Given the description of an element on the screen output the (x, y) to click on. 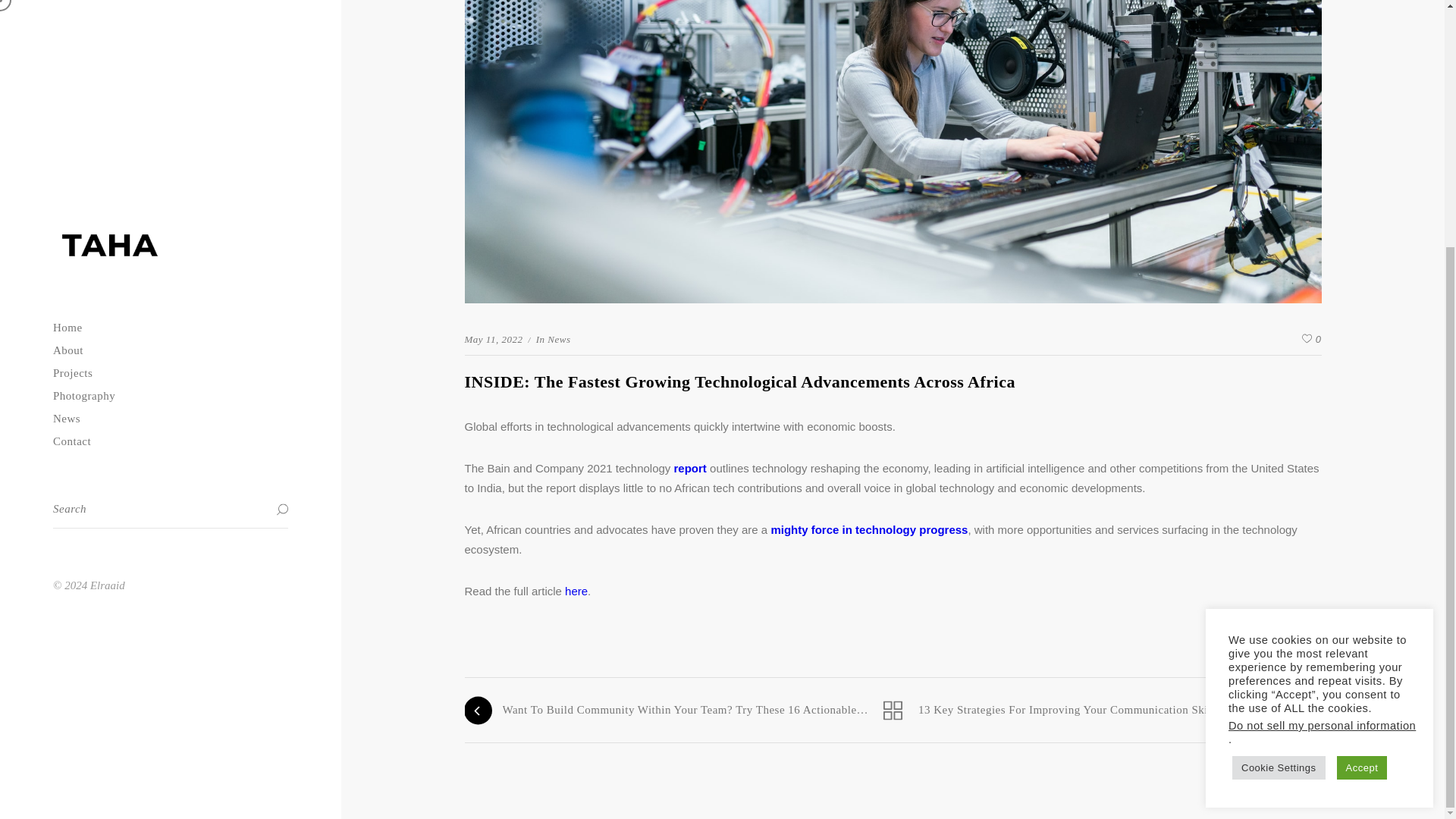
Do not sell my personal information (1321, 381)
Like this (1311, 339)
Cookie Settings (1277, 422)
Photography (170, 51)
Contact (170, 96)
Projects (170, 28)
0 (1309, 339)
News (170, 74)
report (688, 468)
mighty force in technology progress (869, 529)
here (576, 590)
News (555, 338)
Accept (1361, 422)
About (170, 8)
